Given the description of an element on the screen output the (x, y) to click on. 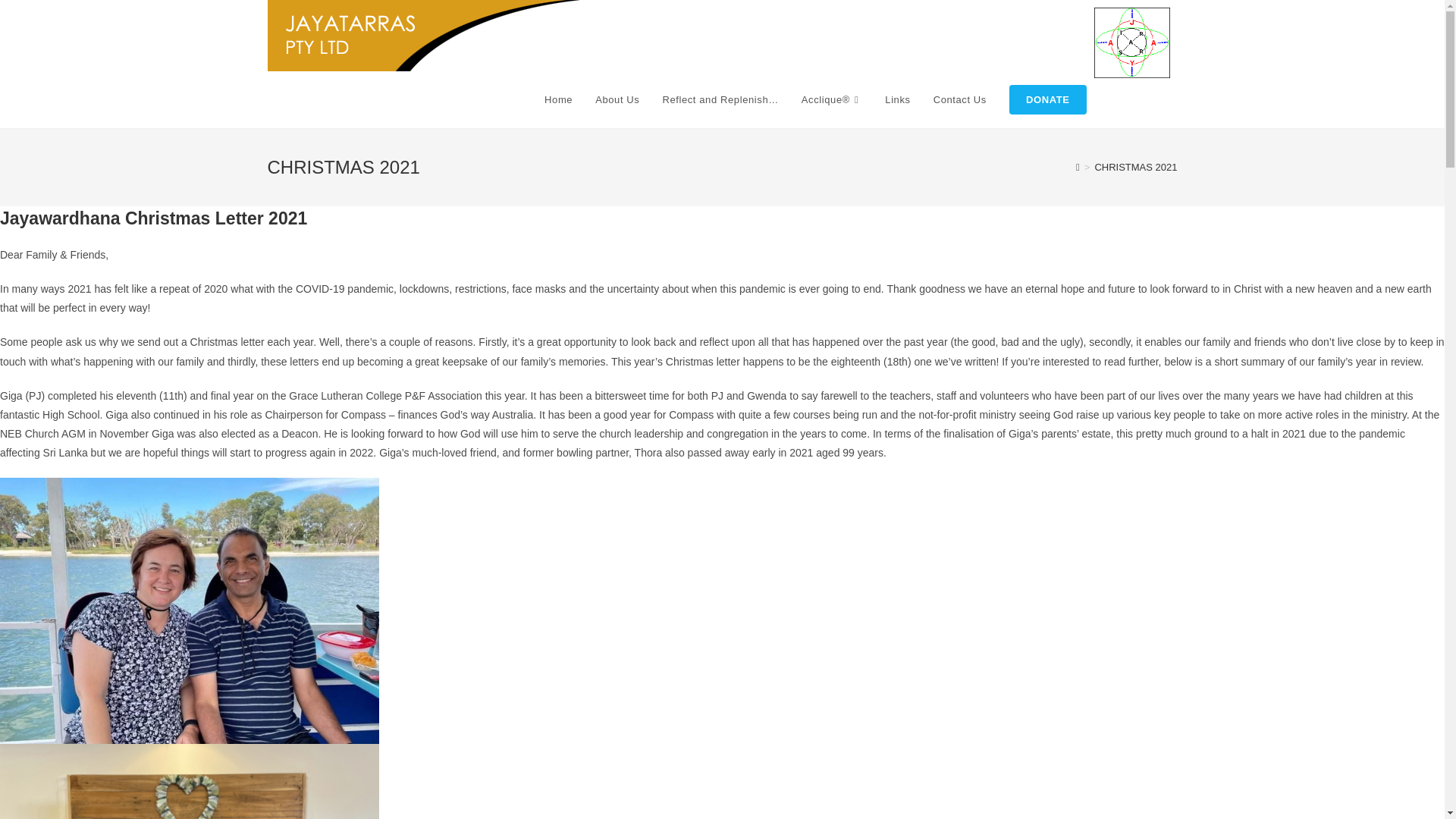
DONATE (1047, 99)
Contact Us (959, 99)
Home (557, 99)
CHRISTMAS 2021 (1135, 166)
About Us (616, 99)
